Given the description of an element on the screen output the (x, y) to click on. 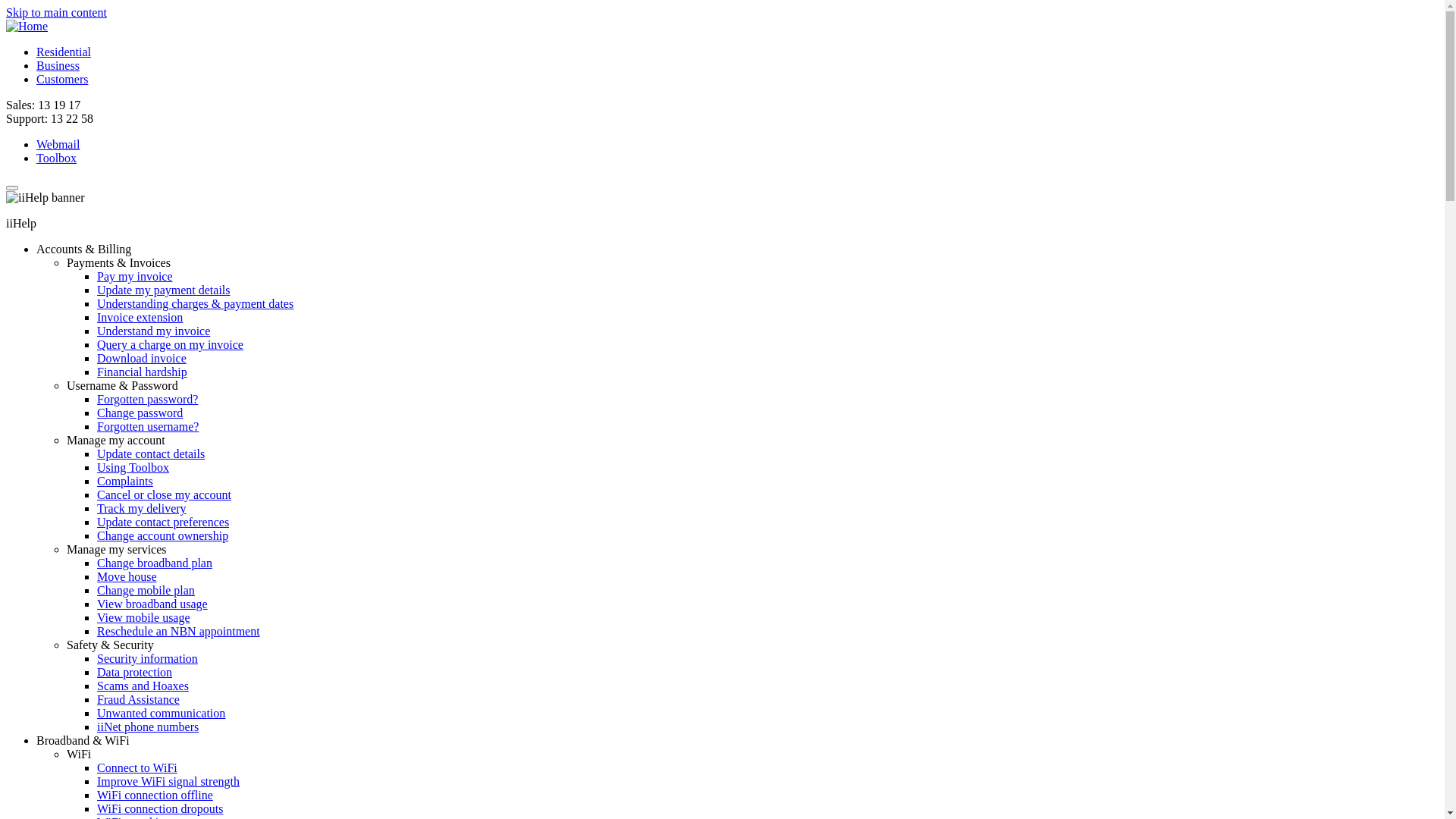
Forgotten username? Element type: text (147, 426)
Update my payment details Element type: text (163, 289)
Improve WiFi signal strength Element type: text (168, 781)
Webmail Element type: text (57, 144)
View mobile usage Element type: text (143, 617)
Toolbox Element type: text (56, 157)
Change mobile plan Element type: text (145, 589)
Scams and Hoaxes Element type: text (142, 685)
Residential Element type: text (63, 51)
Financial hardship Element type: text (142, 371)
Connect to WiFi Element type: text (137, 767)
Skip to main content Element type: text (56, 12)
Fraud Assistance Element type: text (138, 699)
Unwanted communication Element type: text (161, 712)
iiNet phone numbers Element type: text (147, 726)
Customers Element type: text (61, 78)
Pay my invoice Element type: text (134, 275)
View broadband usage Element type: text (152, 603)
Using Toolbox Element type: text (133, 467)
Invoice extension Element type: text (139, 316)
Change broadband plan Element type: text (154, 562)
Track my delivery Element type: text (141, 508)
Move house Element type: text (126, 576)
Change account ownership Element type: text (162, 535)
WiFi connection dropouts Element type: text (159, 808)
Forgotten password? Element type: text (147, 398)
Home Element type: hover (26, 25)
Understand my invoice Element type: text (153, 330)
Reschedule an NBN appointment Element type: text (178, 630)
Cancel or close my account Element type: text (164, 494)
WiFi connection offline Element type: text (155, 794)
Change password Element type: text (139, 412)
Query a charge on my invoice Element type: text (170, 344)
Data protection Element type: text (134, 671)
Update contact preferences Element type: text (163, 521)
Update contact details Element type: text (150, 453)
Business Element type: text (57, 65)
Download invoice Element type: text (141, 357)
Understanding charges & payment dates Element type: text (195, 303)
Complaints Element type: text (125, 480)
Security information Element type: text (147, 658)
